Given the description of an element on the screen output the (x, y) to click on. 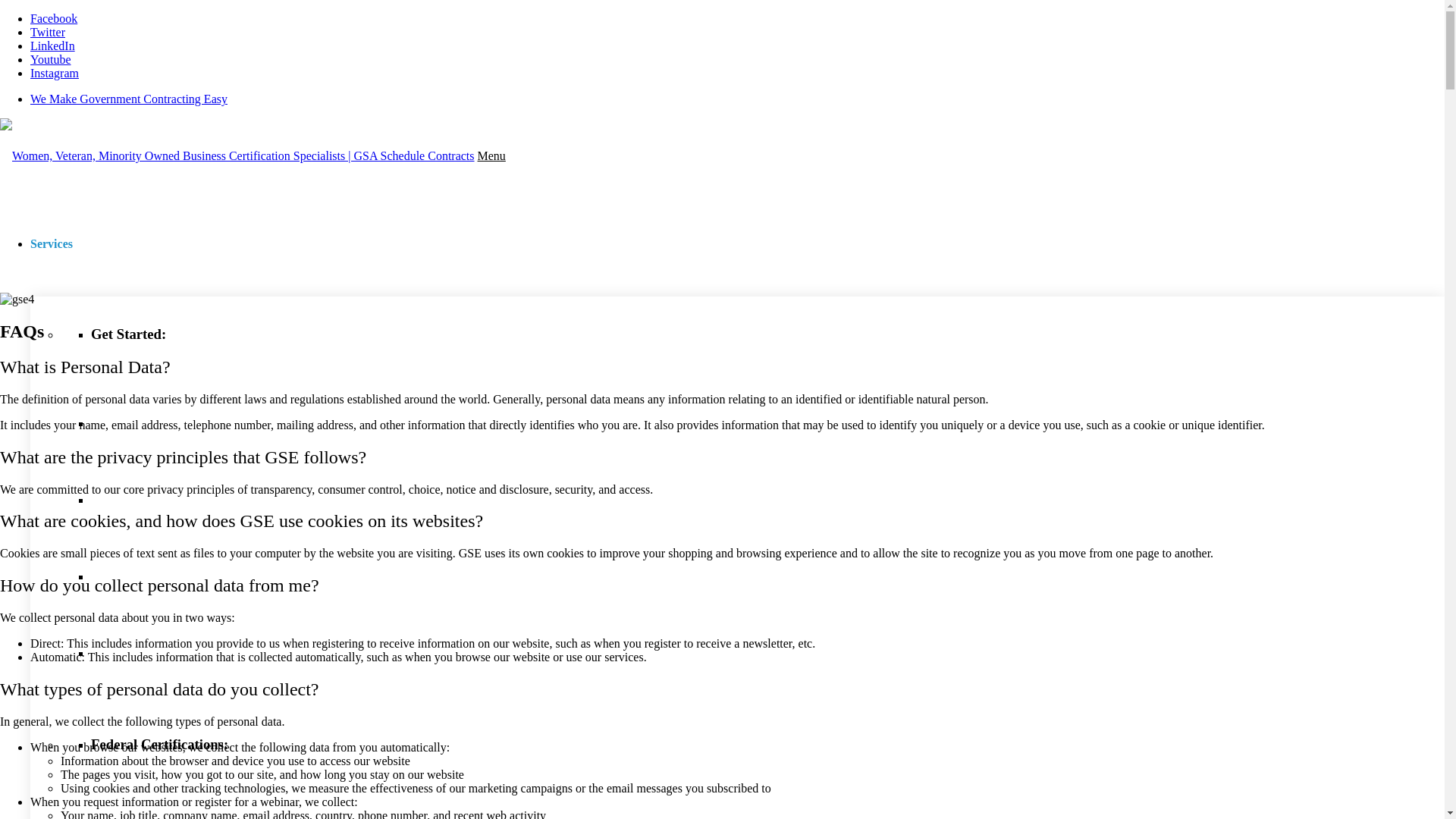
Instagram (54, 72)
Menu (491, 155)
Instagram (54, 72)
Twitter (47, 31)
Youtube (50, 59)
GSE Government Services Exchange logo 1 (237, 155)
Facebook (53, 18)
We Make Government Contracting Easy (128, 98)
Facebook (53, 18)
LinkedIn (52, 45)
